Given the description of an element on the screen output the (x, y) to click on. 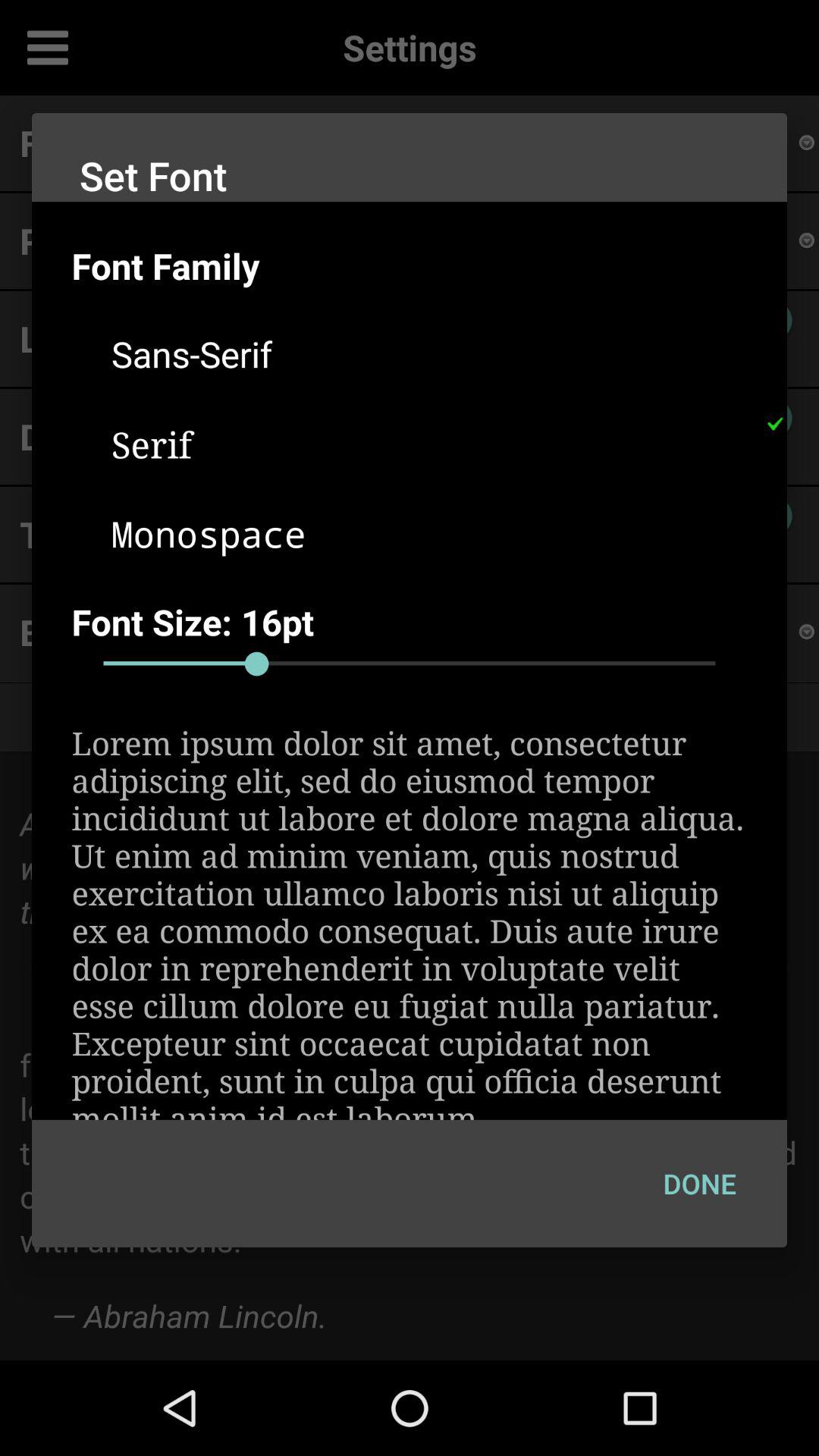
scroll to lorem ipsum dolor (409, 920)
